Given the description of an element on the screen output the (x, y) to click on. 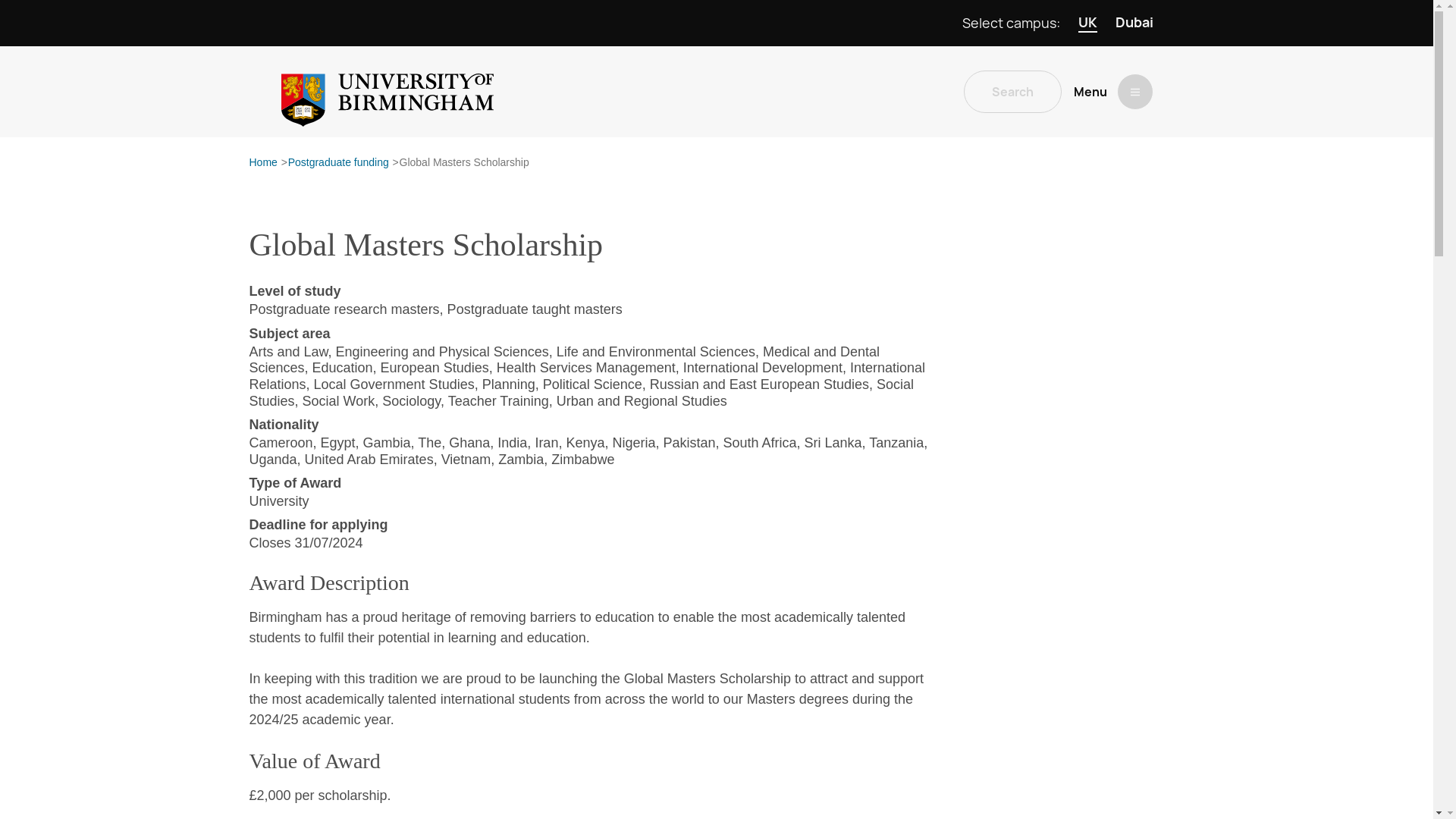
Postgraduate funding (338, 163)
Search (1012, 91)
Global Masters Scholarship (463, 163)
Home (262, 163)
Dubai (1134, 23)
UK (1087, 23)
